Given the description of an element on the screen output the (x, y) to click on. 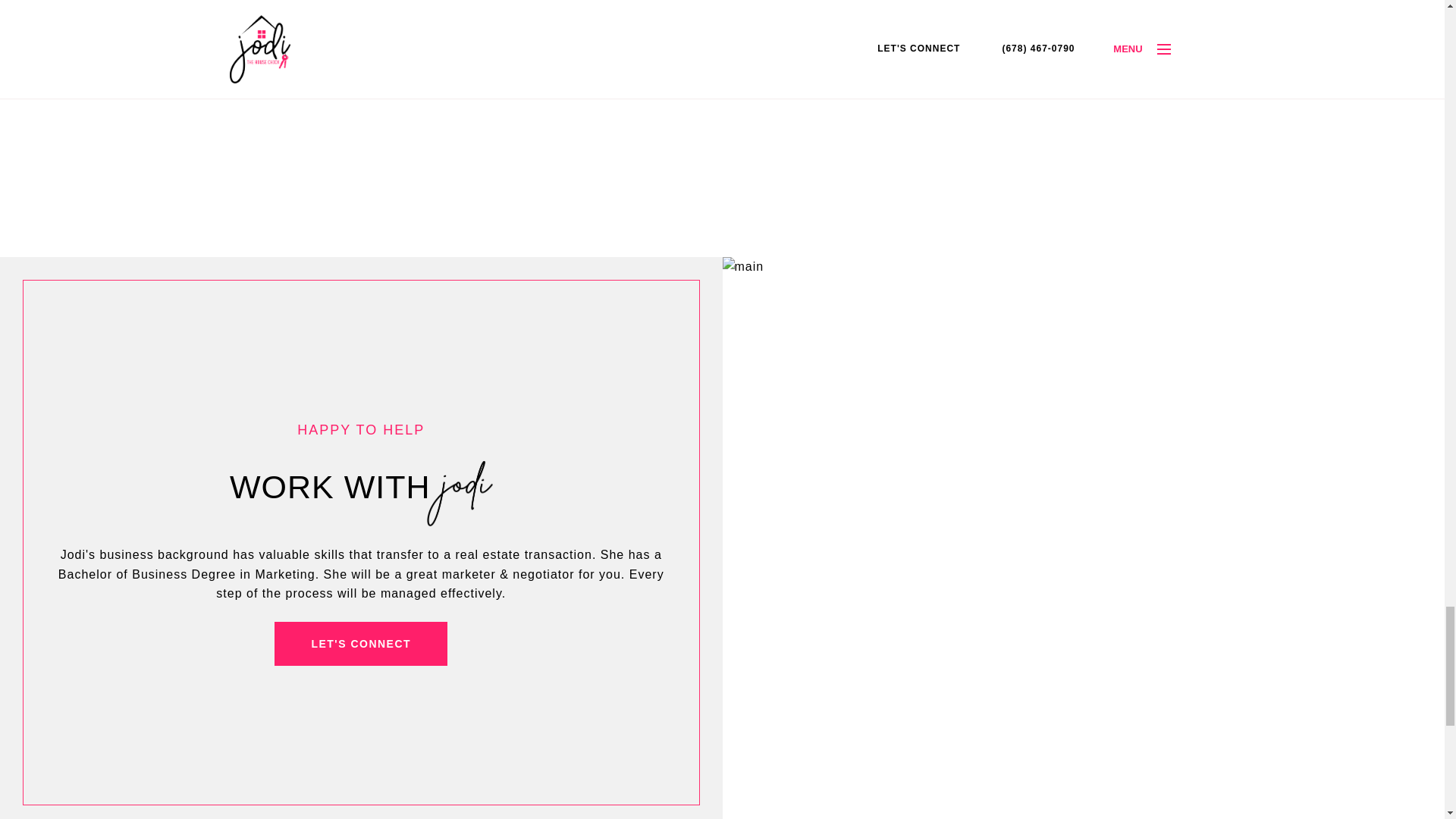
LET'S CONNECT (360, 643)
